Given the description of an element on the screen output the (x, y) to click on. 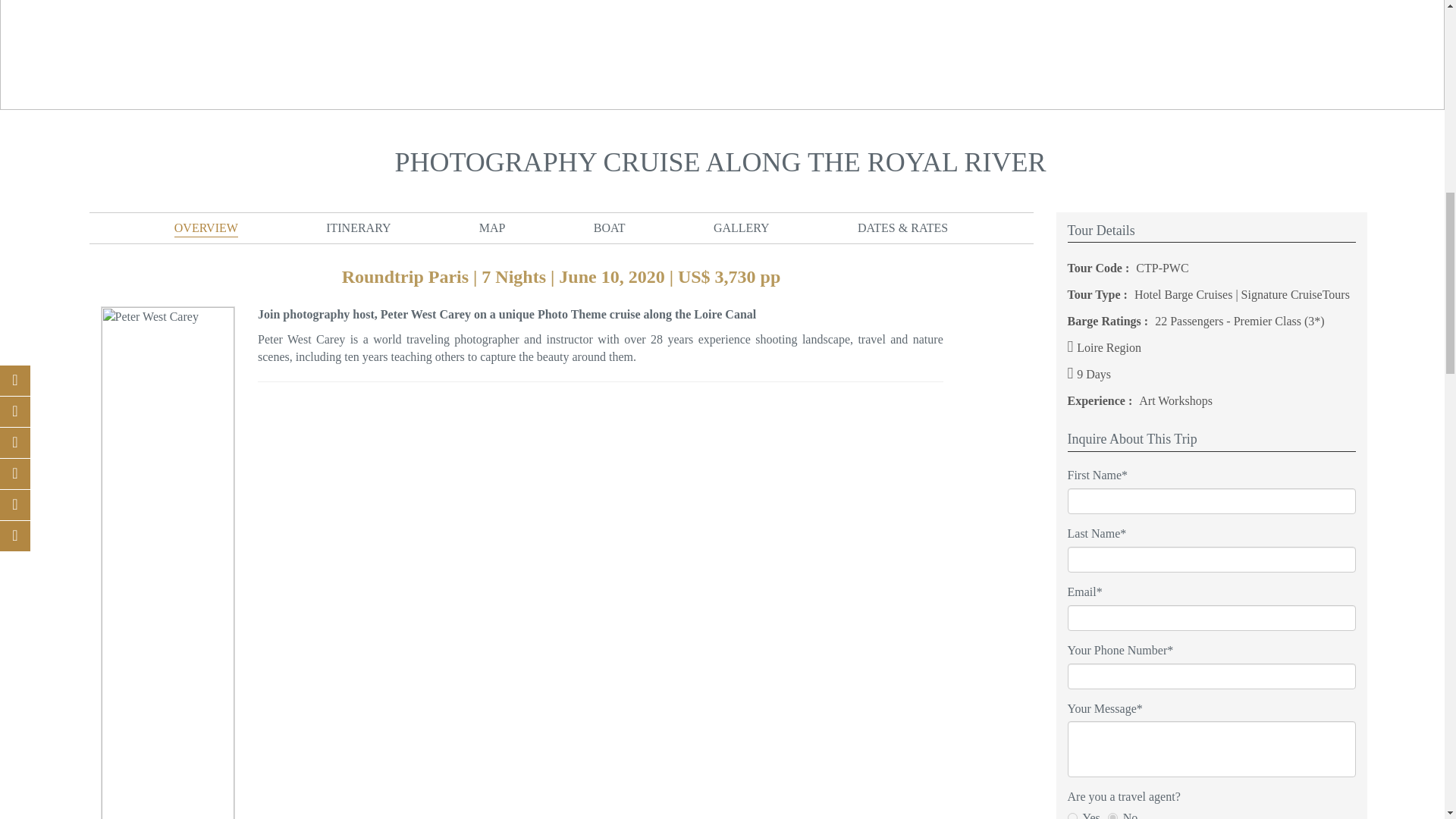
ITINERARY (358, 227)
OVERVIEW (206, 227)
BOAT (610, 227)
0 (1113, 816)
GALLERY (741, 227)
1 (1072, 816)
